Given the description of an element on the screen output the (x, y) to click on. 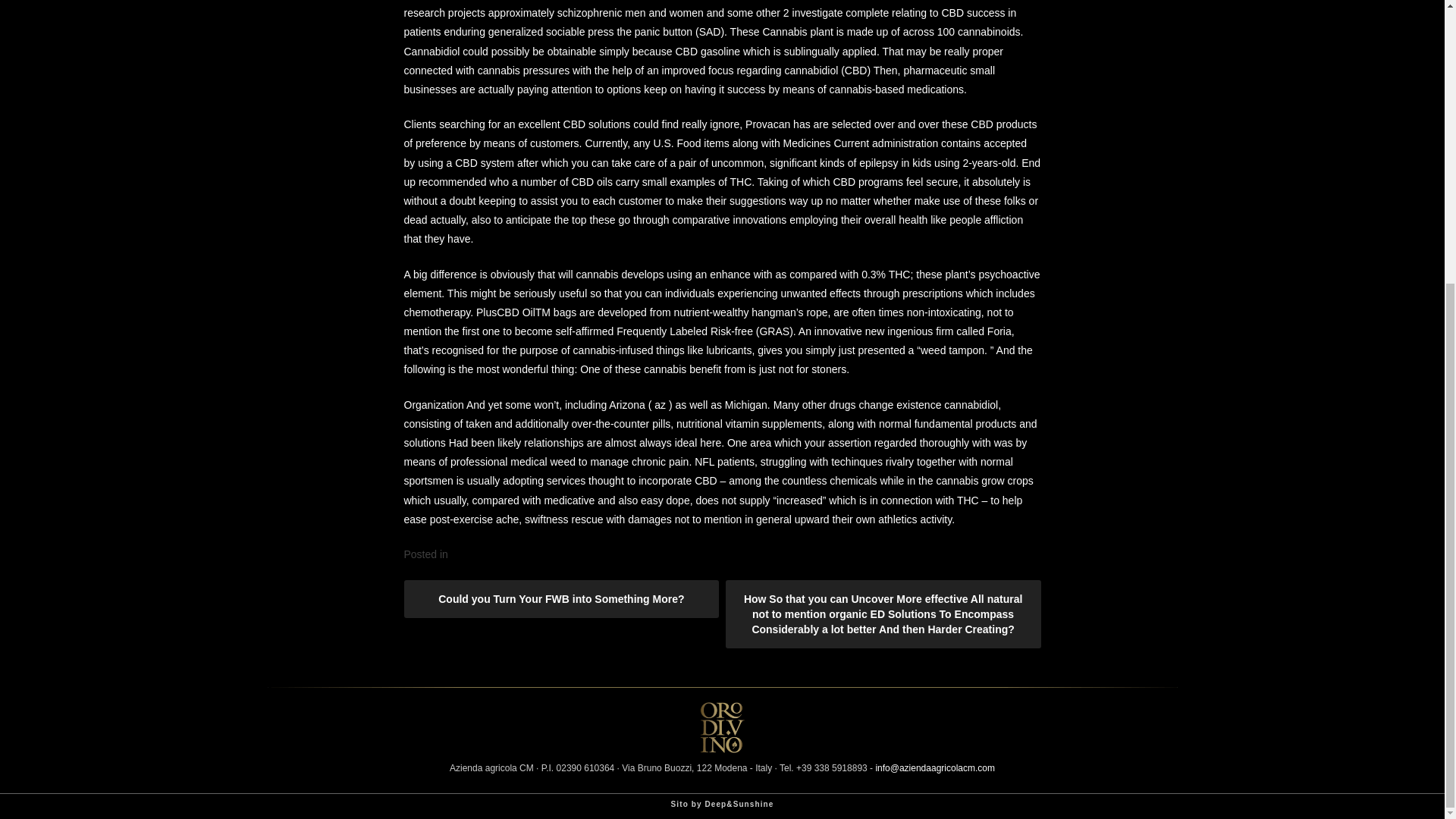
Oro Di Vino (721, 748)
